Given the description of an element on the screen output the (x, y) to click on. 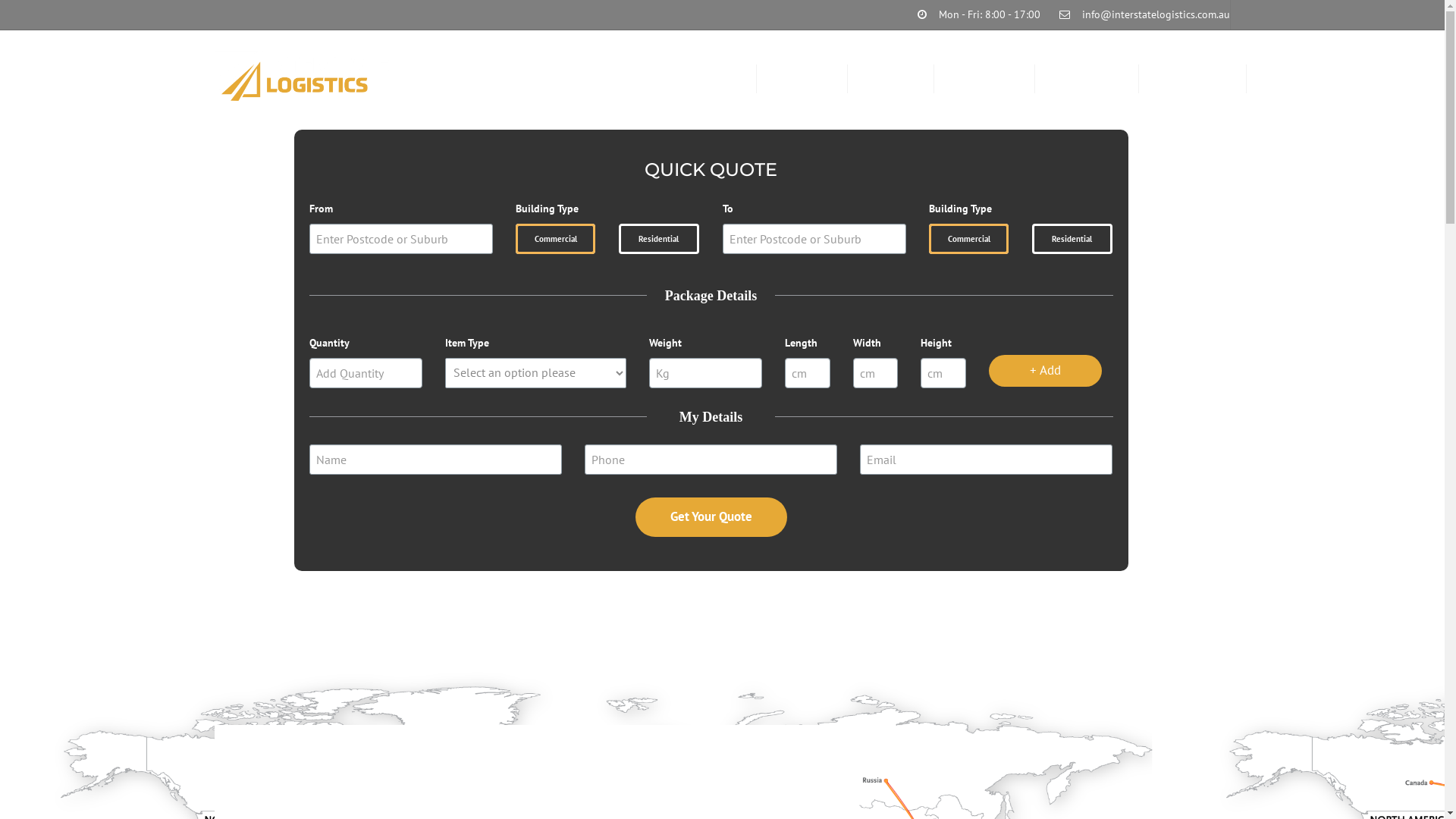
ABOUT US Element type: text (801, 78)
HOME Element type: text (723, 78)
MY ACCOUNT Element type: text (1192, 78)
Get Your Quote Element type: text (711, 516)
info@interstatelogistics.com.au Element type: text (1155, 14)
RESOURCES Element type: text (984, 78)
CONTACT US Element type: text (1087, 78)
SERVICES Element type: text (890, 78)
+ Add Element type: text (1044, 370)
